Given the description of an element on the screen output the (x, y) to click on. 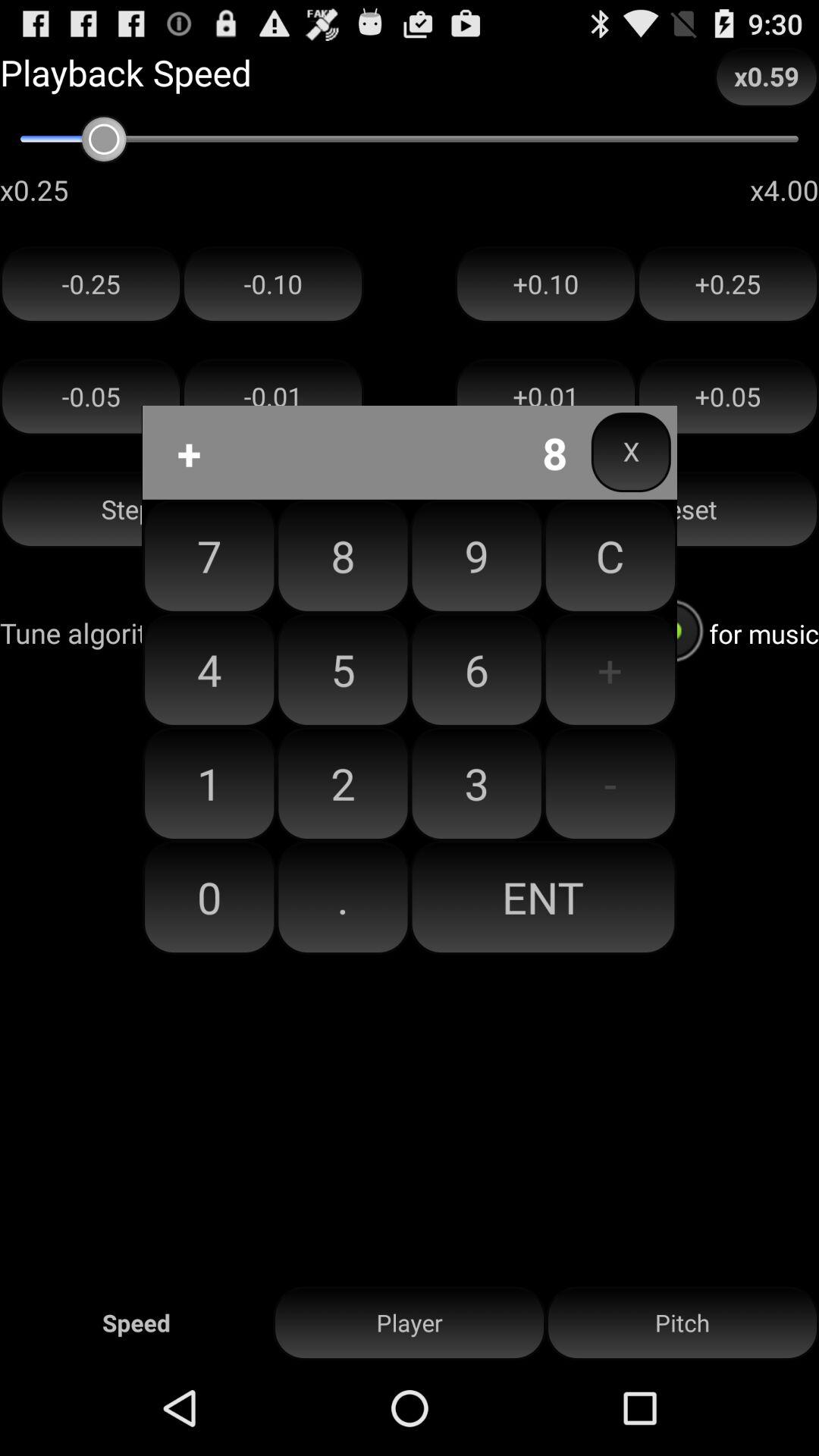
jump to ent icon (542, 897)
